Given the description of an element on the screen output the (x, y) to click on. 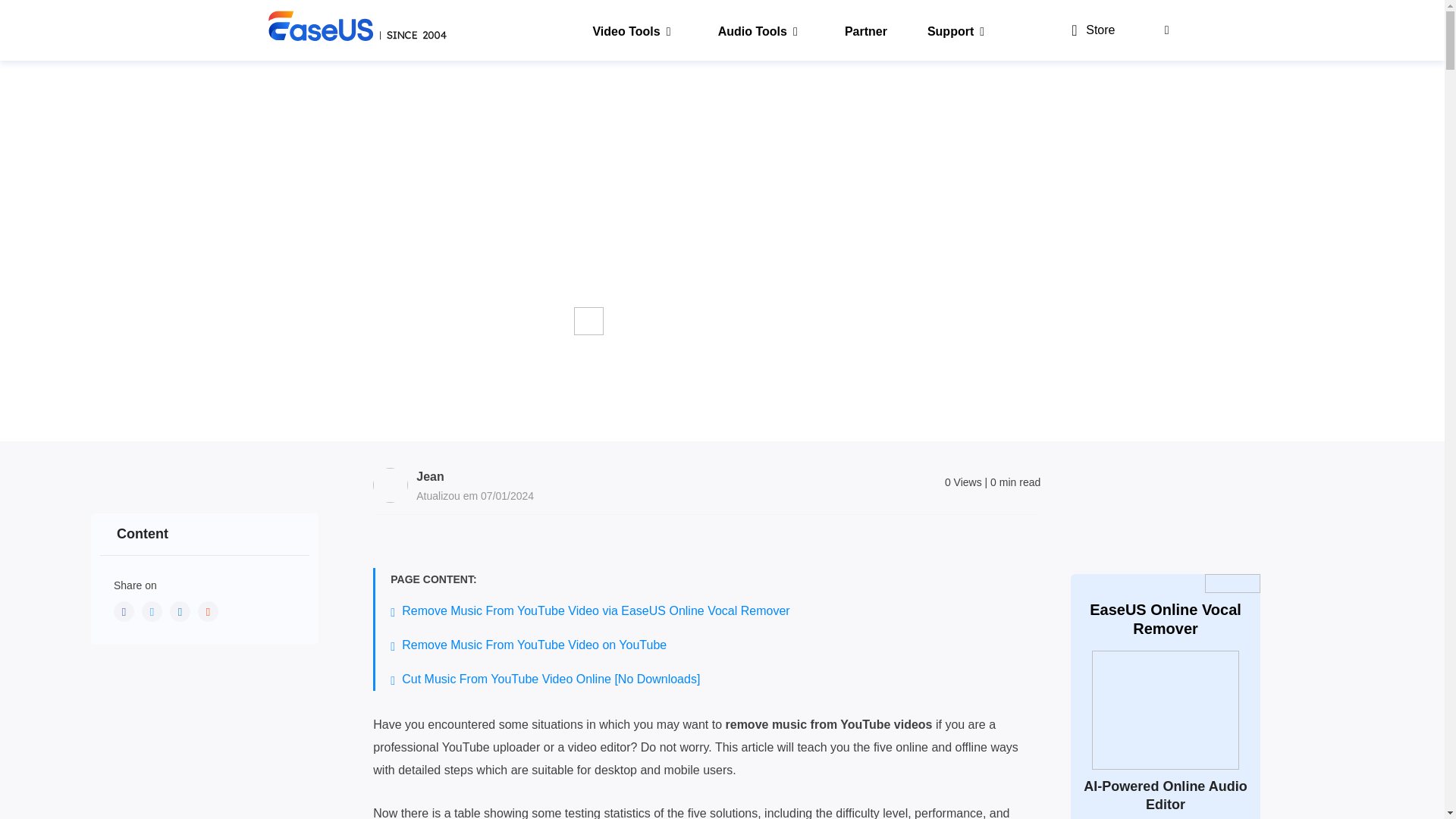
Remove Music From YouTube Video on YouTube (533, 644)
Deutsch (1052, 76)
Jean (430, 476)
Partner (856, 30)
Italiano (926, 76)
AI Article (297, 76)
  Store (1087, 29)
Home (249, 76)
